Given the description of an element on the screen output the (x, y) to click on. 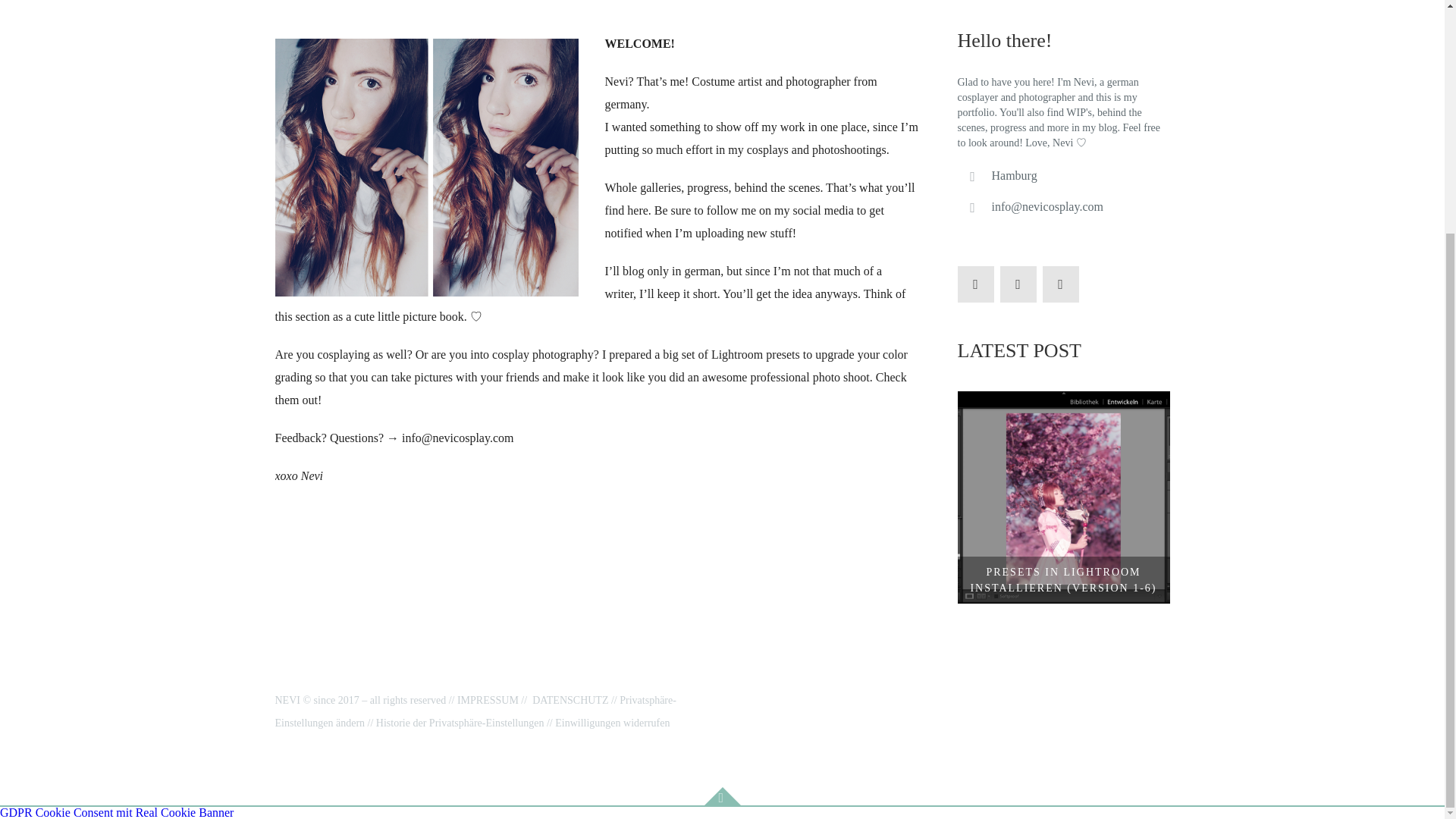
DATENSCHUTZ (570, 699)
Einwilligungen widerrufen (611, 722)
IMPRESSUM (487, 699)
